Given the description of an element on the screen output the (x, y) to click on. 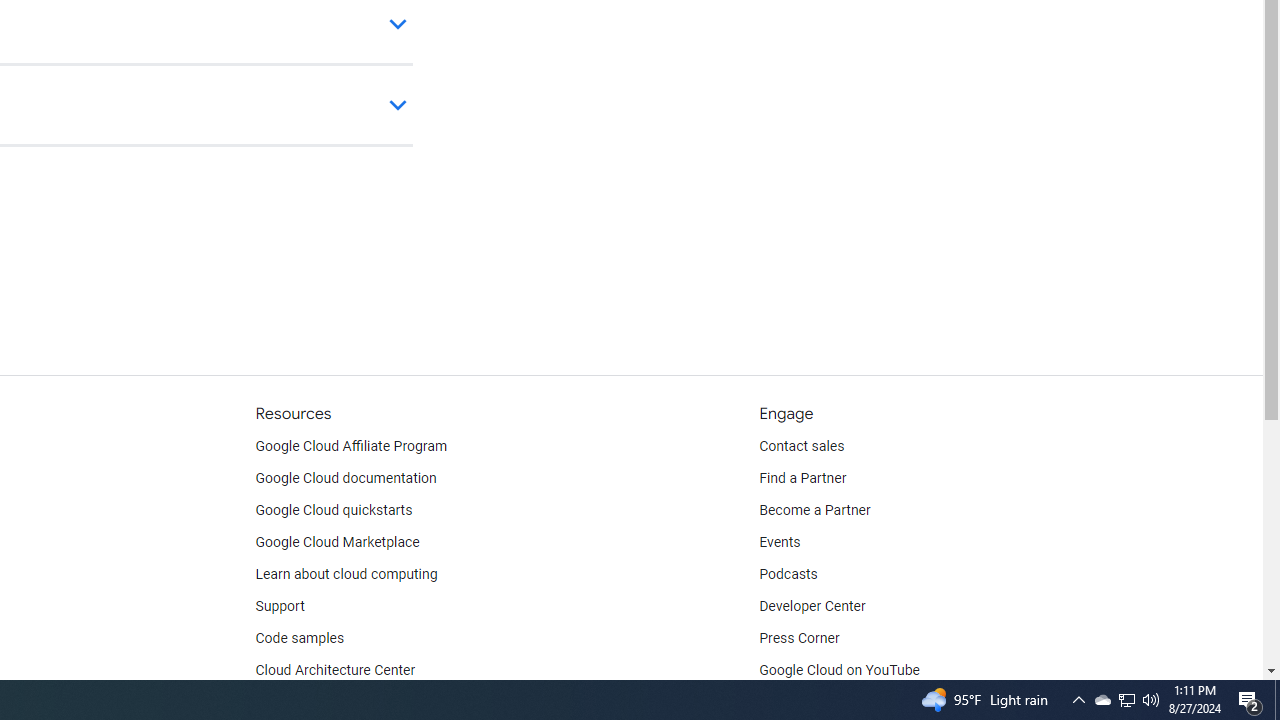
Podcasts (788, 574)
Become a Partner (814, 511)
Google Cloud Marketplace (336, 542)
Developer Center (812, 606)
Google Cloud on YouTube (839, 670)
Events (780, 542)
Code samples (299, 638)
Find a Partner (803, 478)
Press Corner (799, 638)
Cloud Architecture Center (335, 670)
Google Cloud Affiliate Program (351, 446)
Google Cloud quickstarts (333, 511)
Contact sales (801, 446)
Support (279, 606)
